Given the description of an element on the screen output the (x, y) to click on. 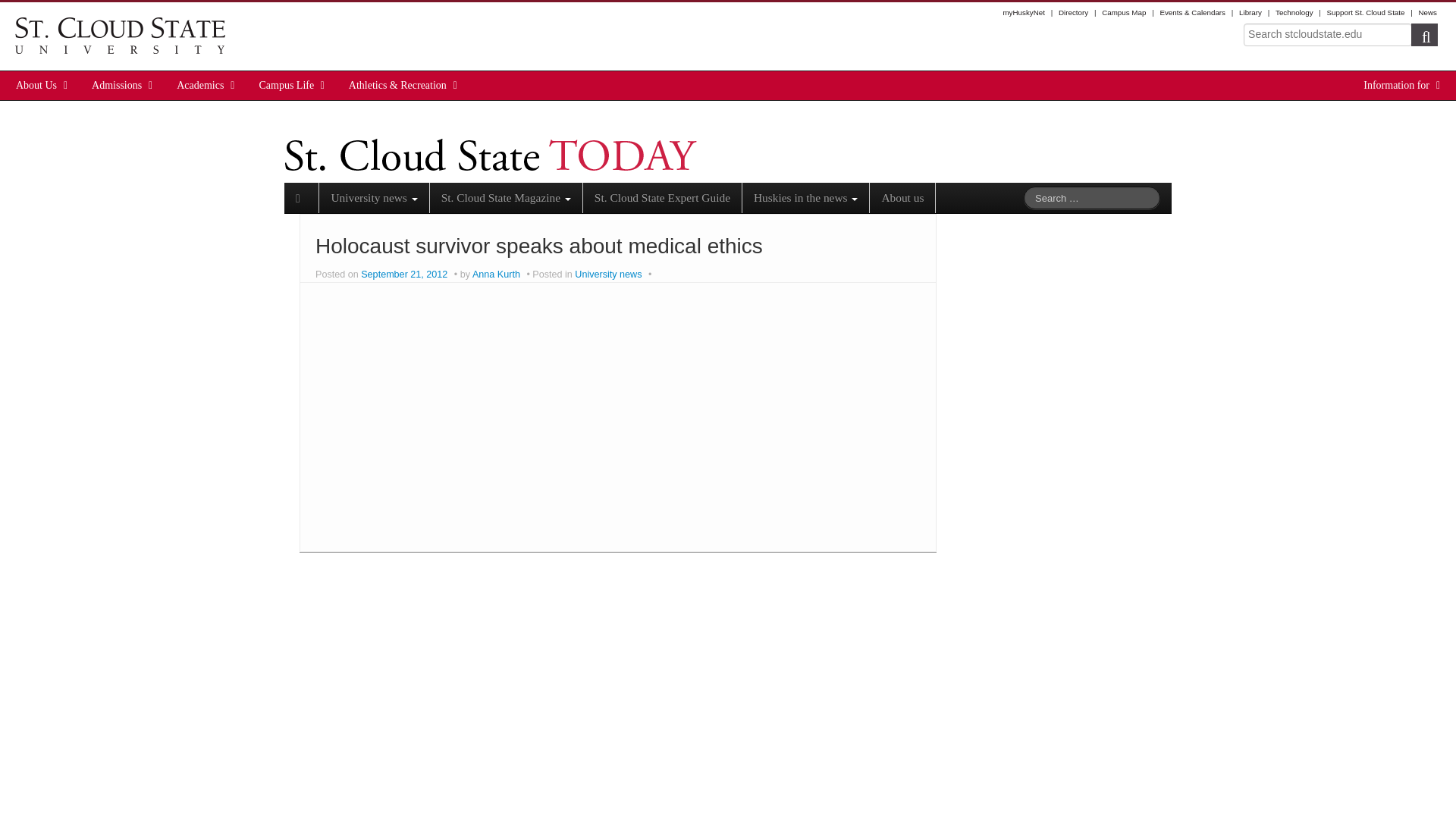
Campus Life (286, 85)
Academics (199, 85)
View all posts by Anna Kurth (495, 274)
About Us (36, 85)
10:44 am (405, 274)
Admissions (116, 85)
Search stcloudstate.edu (1327, 34)
Search stcloudstate.edu (1327, 34)
